Given the description of an element on the screen output the (x, y) to click on. 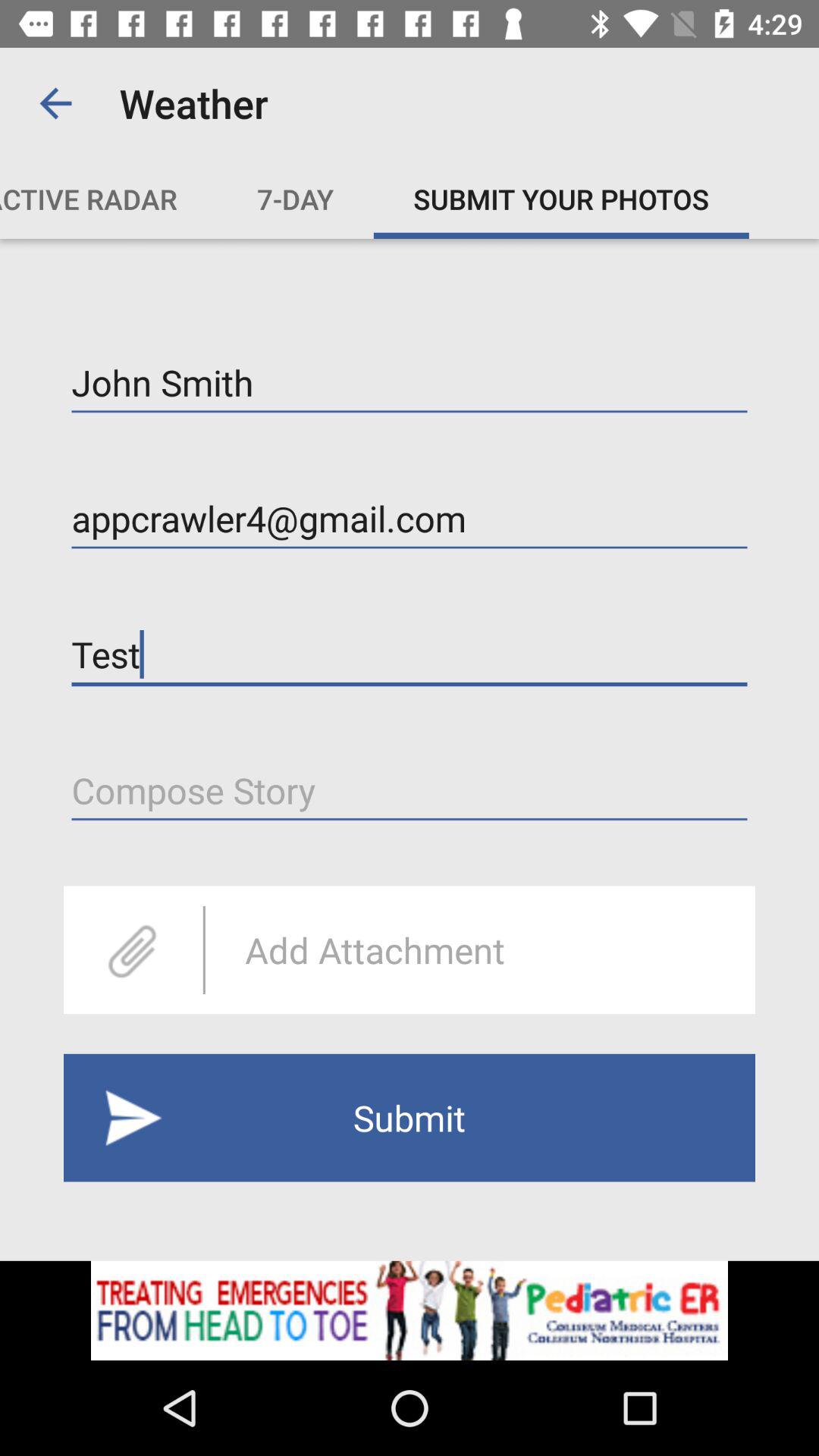
enter words (409, 791)
